Given the description of an element on the screen output the (x, y) to click on. 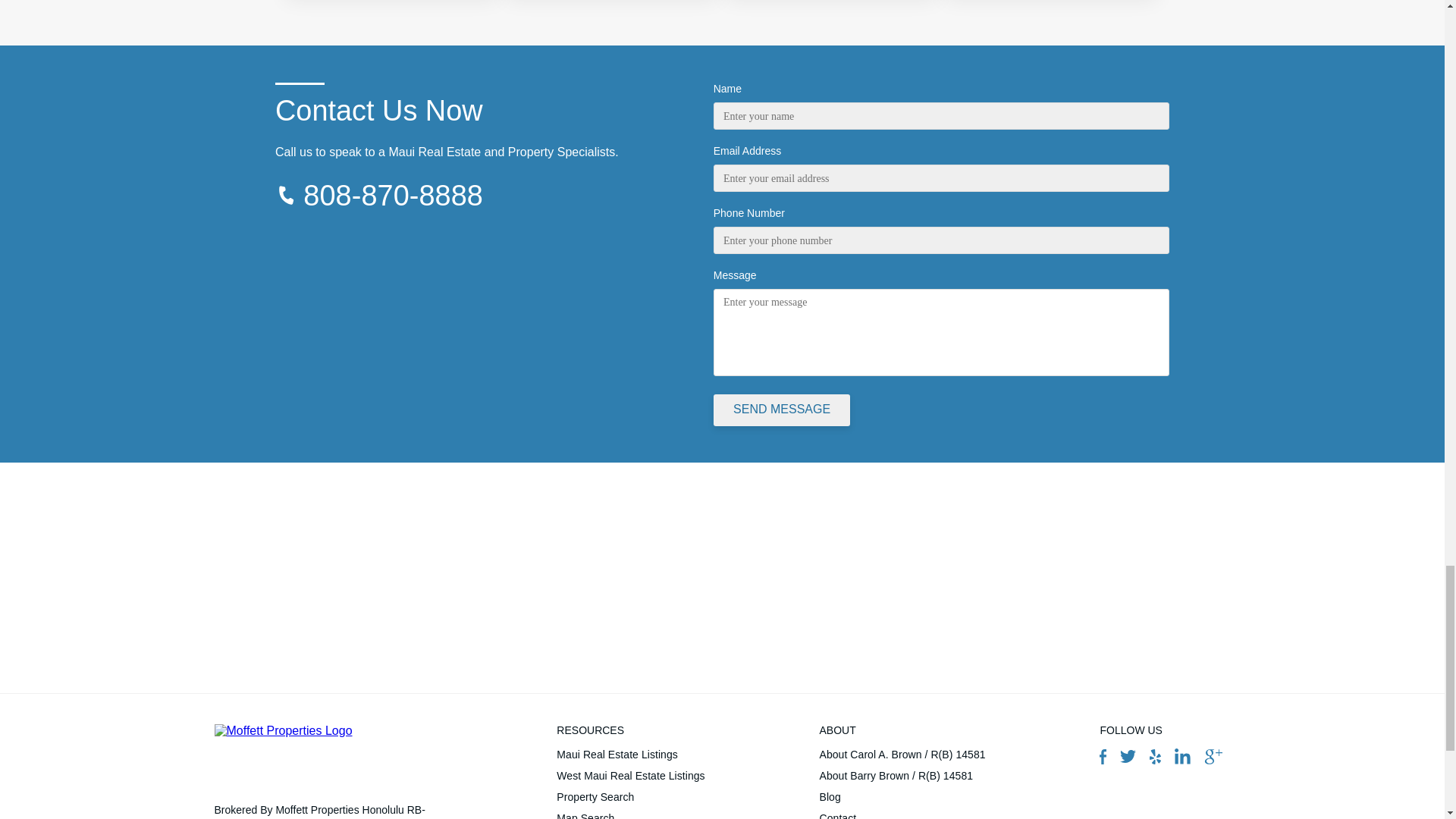
808-870-8888 (392, 195)
Maui Real Estate Listings (630, 753)
Map Search (630, 813)
West Maui Real Estate Listings (630, 775)
send message (781, 409)
Property Search (630, 796)
send message (781, 409)
